Given the description of an element on the screen output the (x, y) to click on. 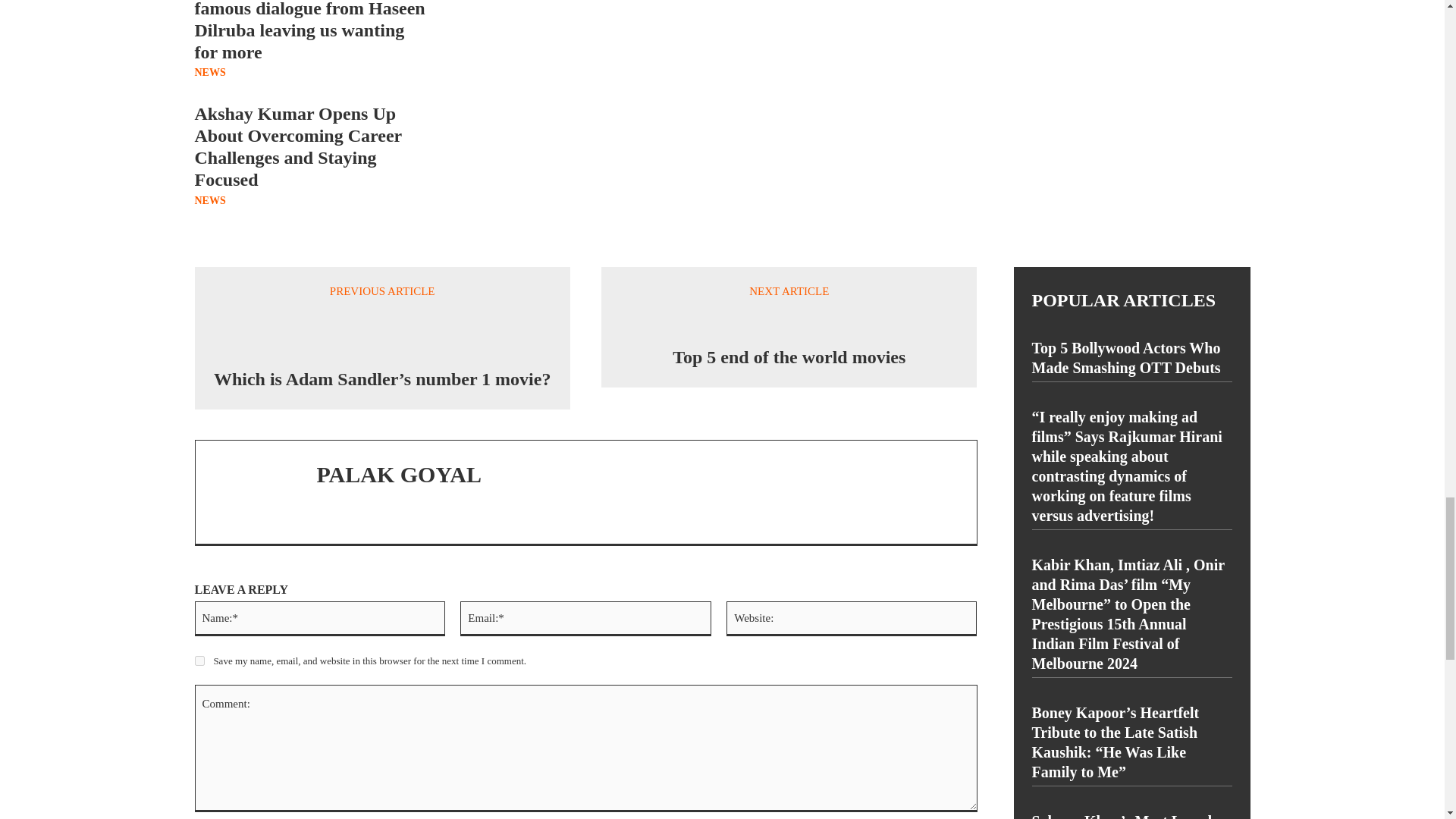
yes (198, 660)
